Given the description of an element on the screen output the (x, y) to click on. 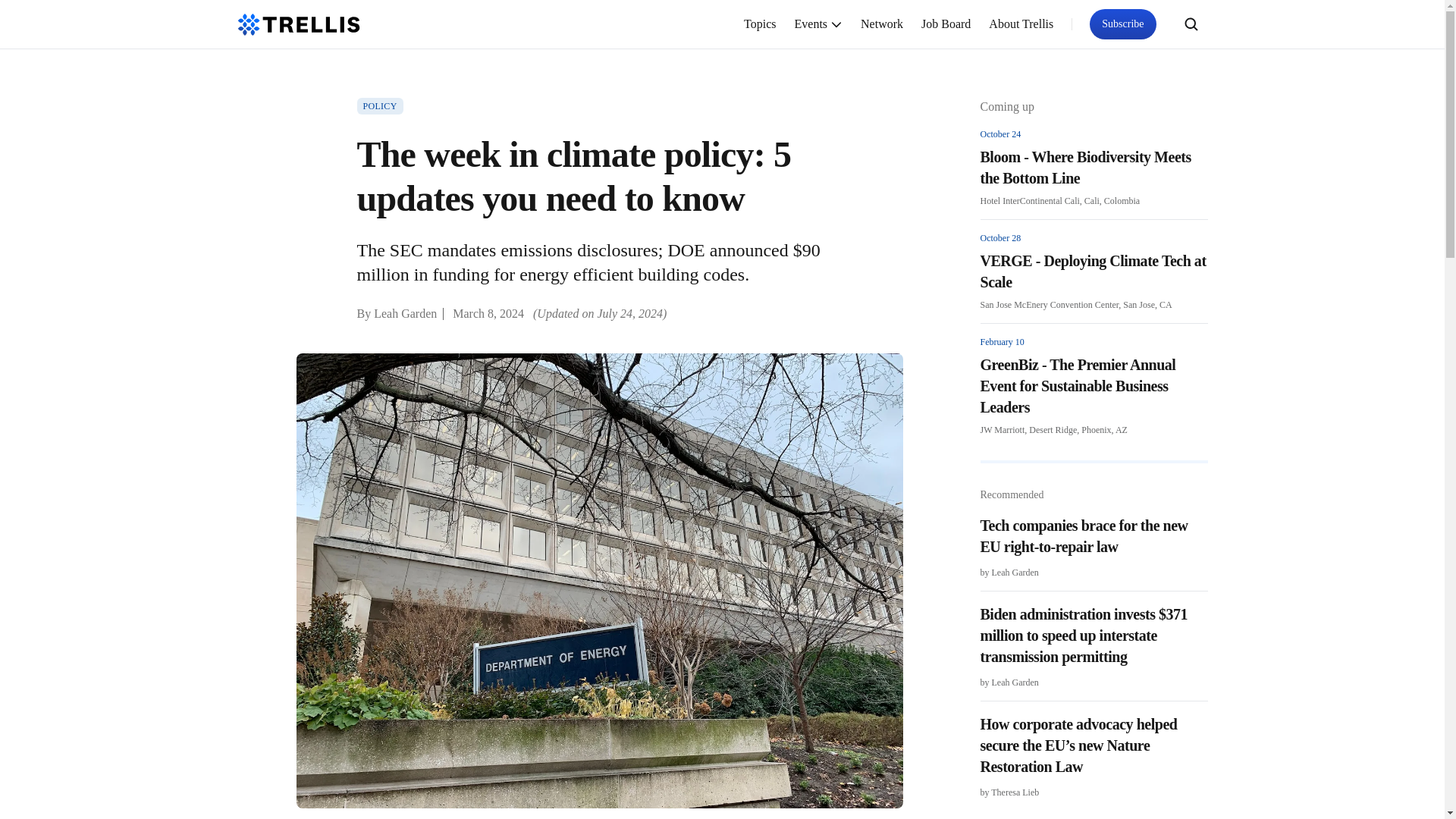
About Trellis (1020, 24)
By Leah Garden (396, 313)
POLICY (379, 105)
Subscribe (1122, 24)
Topics (759, 24)
Network (881, 24)
Job Board (945, 24)
Events (818, 24)
